Given the description of an element on the screen output the (x, y) to click on. 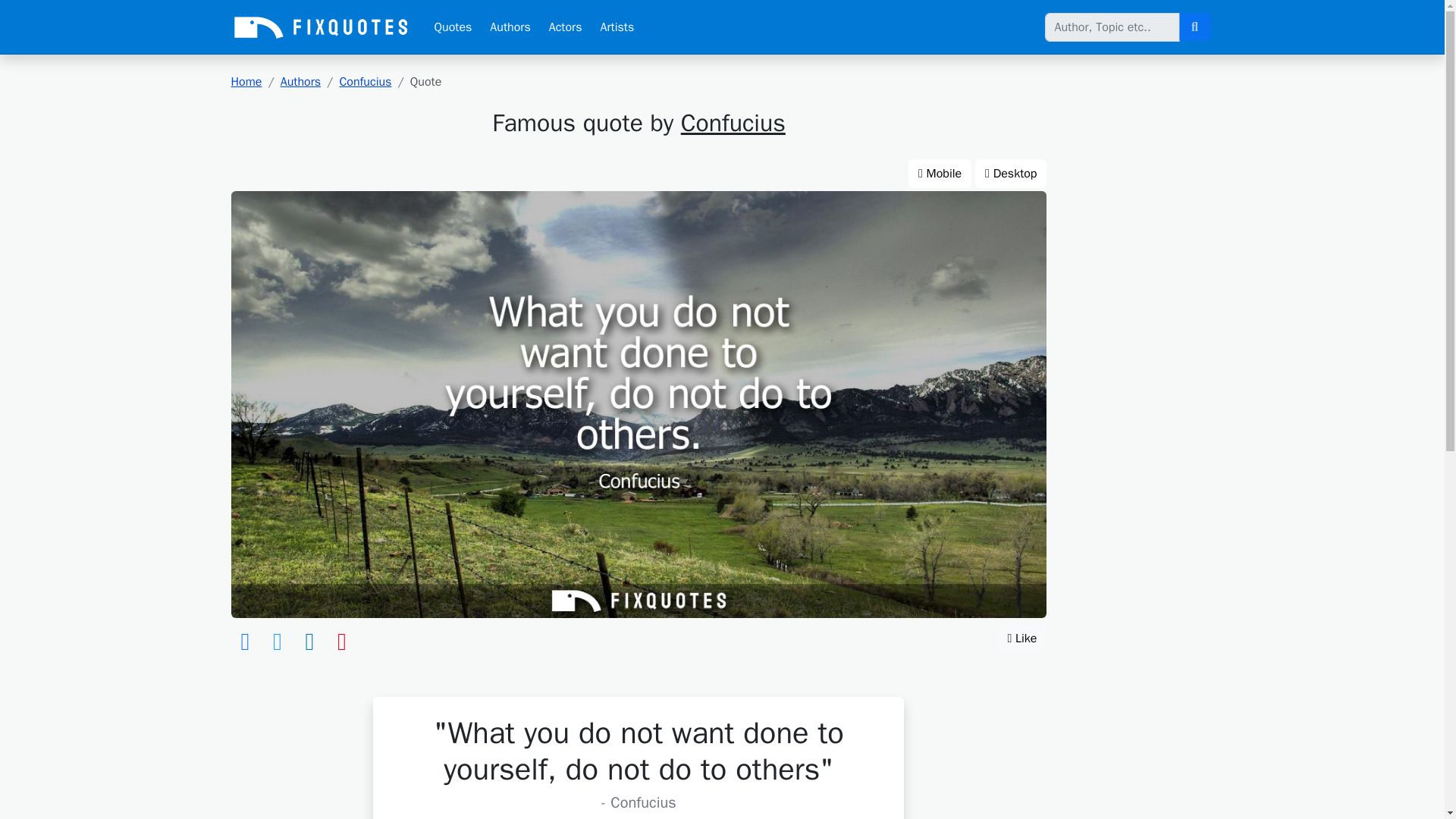
View Mobile version (939, 173)
Authors (509, 27)
Home (246, 81)
Mobile (939, 173)
Confucius (365, 81)
Authors (300, 81)
Quotes (452, 27)
Actors (565, 27)
Confucius (733, 122)
Click to search (1193, 26)
View Desktop version (1010, 173)
Desktop (1010, 173)
Artists (617, 27)
